Given the description of an element on the screen output the (x, y) to click on. 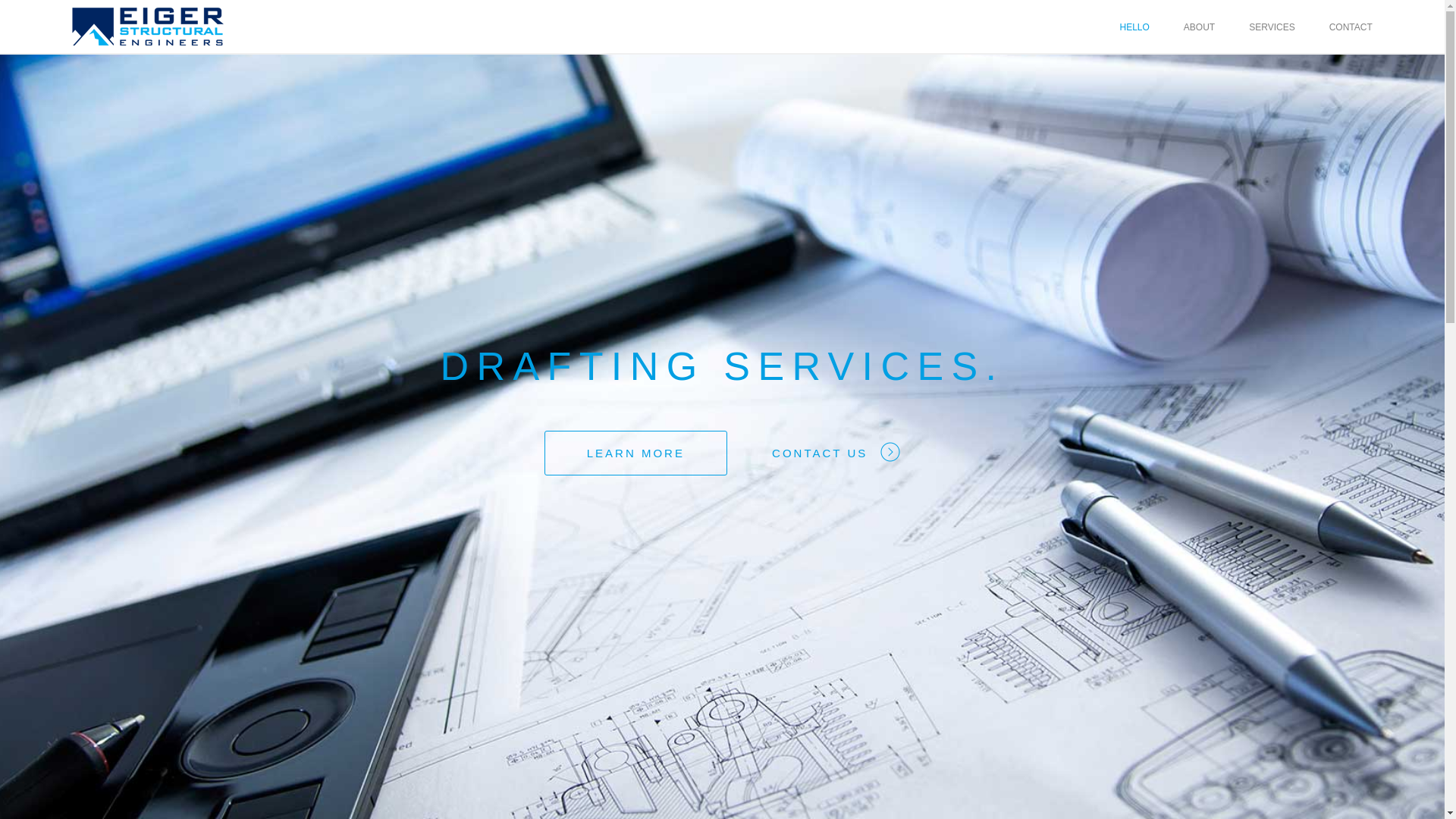
LEARN MORE Element type: text (635, 452)
CONTACT Element type: text (1350, 26)
ABOUT Element type: text (1198, 26)
Skip to main content Element type: text (51, 0)
HELLO Element type: text (1133, 26)
CONTACT US Element type: text (835, 450)
SERVICES Element type: text (1271, 26)
Home Element type: hover (147, 24)
